Given the description of an element on the screen output the (x, y) to click on. 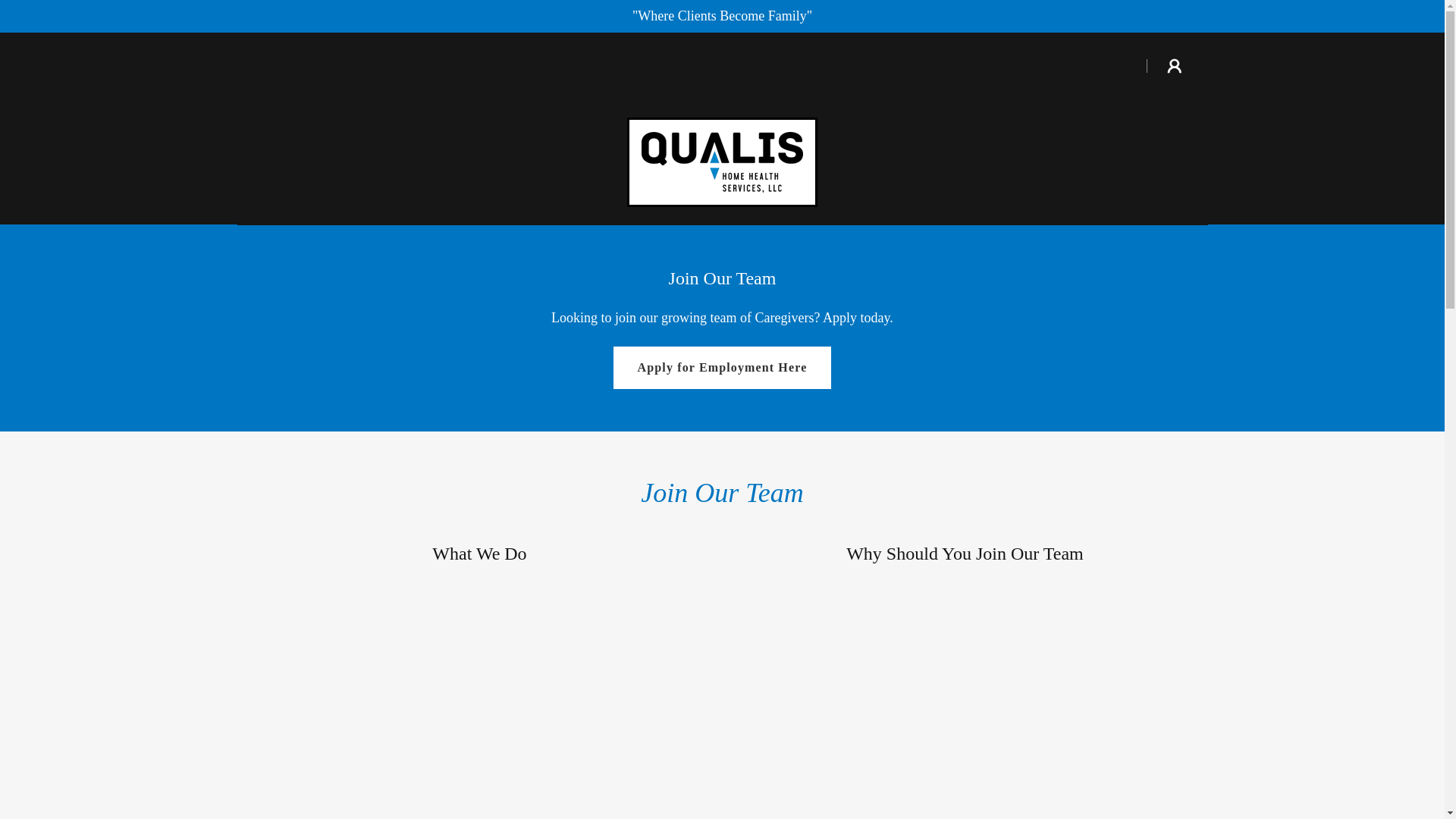
Qualis Home Healthcare Services, LLC (722, 160)
